Given the description of an element on the screen output the (x, y) to click on. 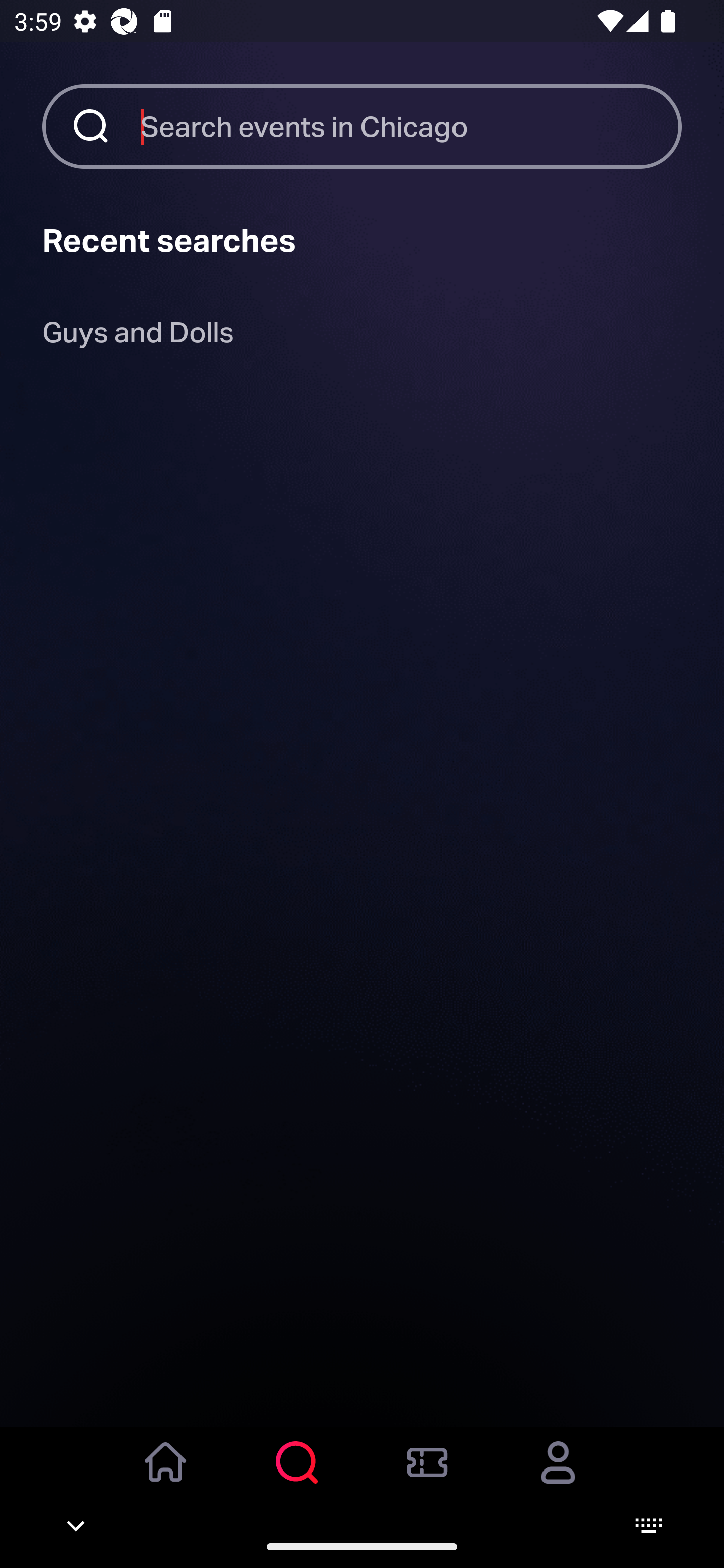
Search events in Chicago (411, 126)
Guys and Dolls (137, 336)
Home (165, 1475)
Orders (427, 1475)
Account (558, 1475)
